Given the description of an element on the screen output the (x, y) to click on. 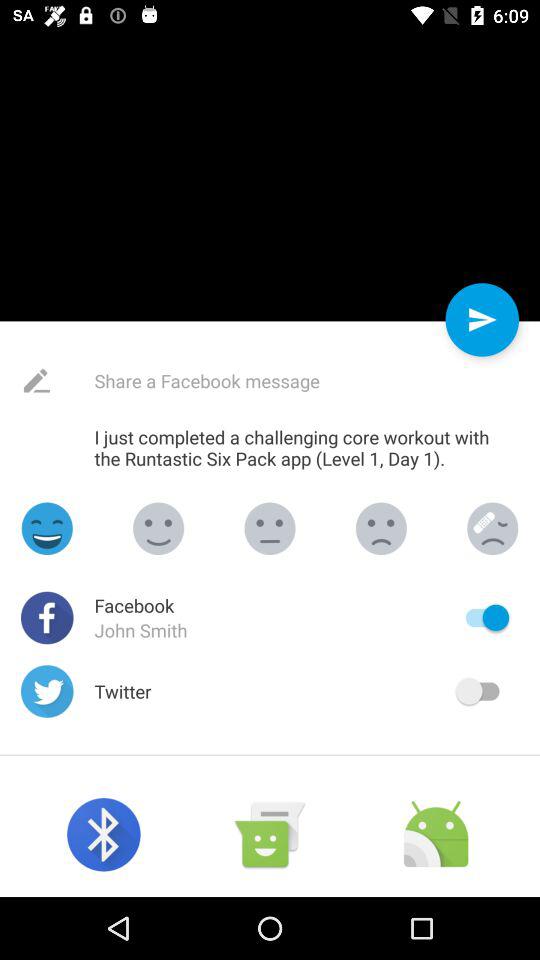
app is broken (492, 528)
